Given the description of an element on the screen output the (x, y) to click on. 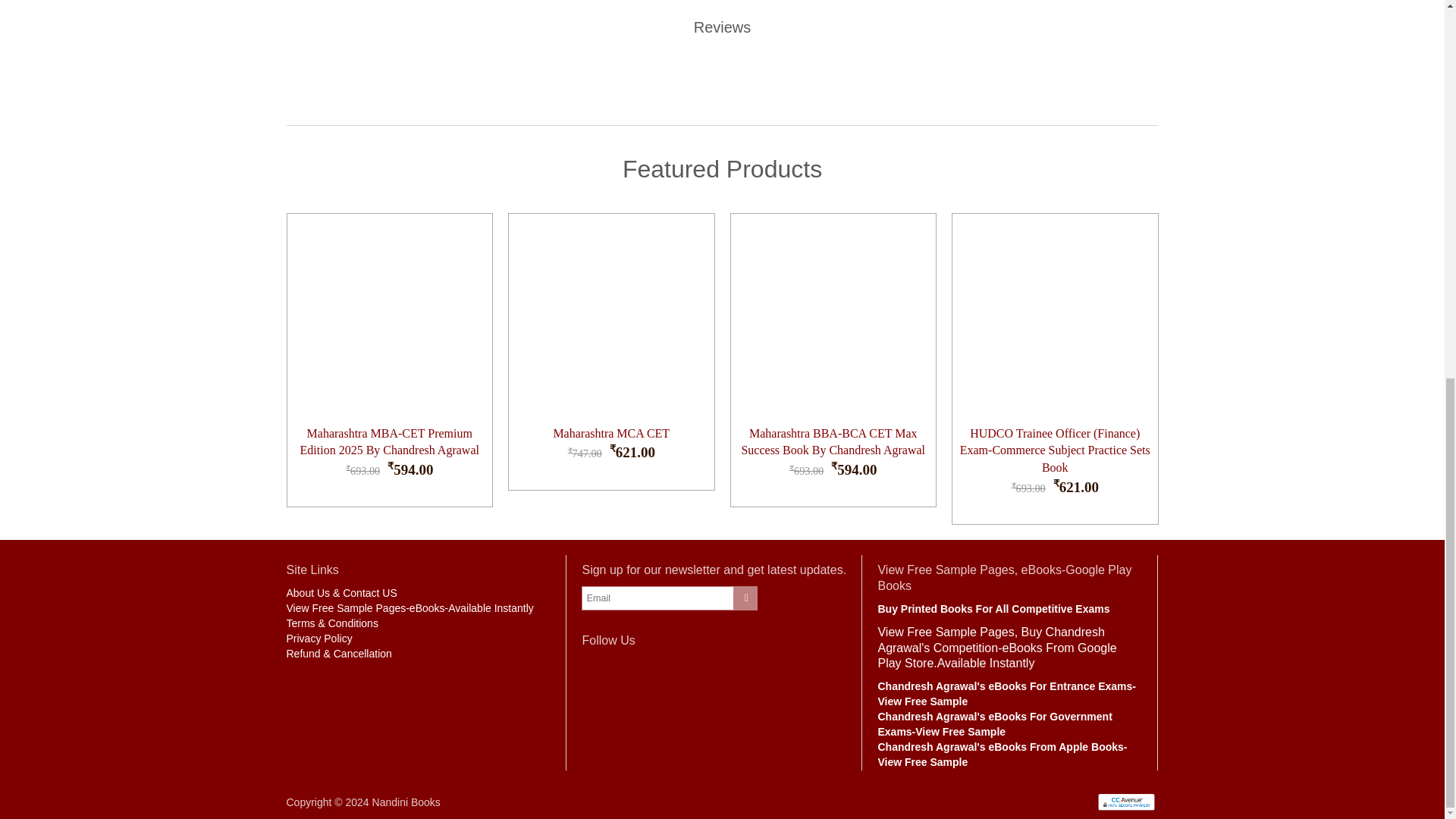
View Free Sample Pages-eBooks-Available Instantly (410, 607)
Privacy Policy (319, 638)
Buy Printed Books For All Competitive Exams (993, 608)
